Given the description of an element on the screen output the (x, y) to click on. 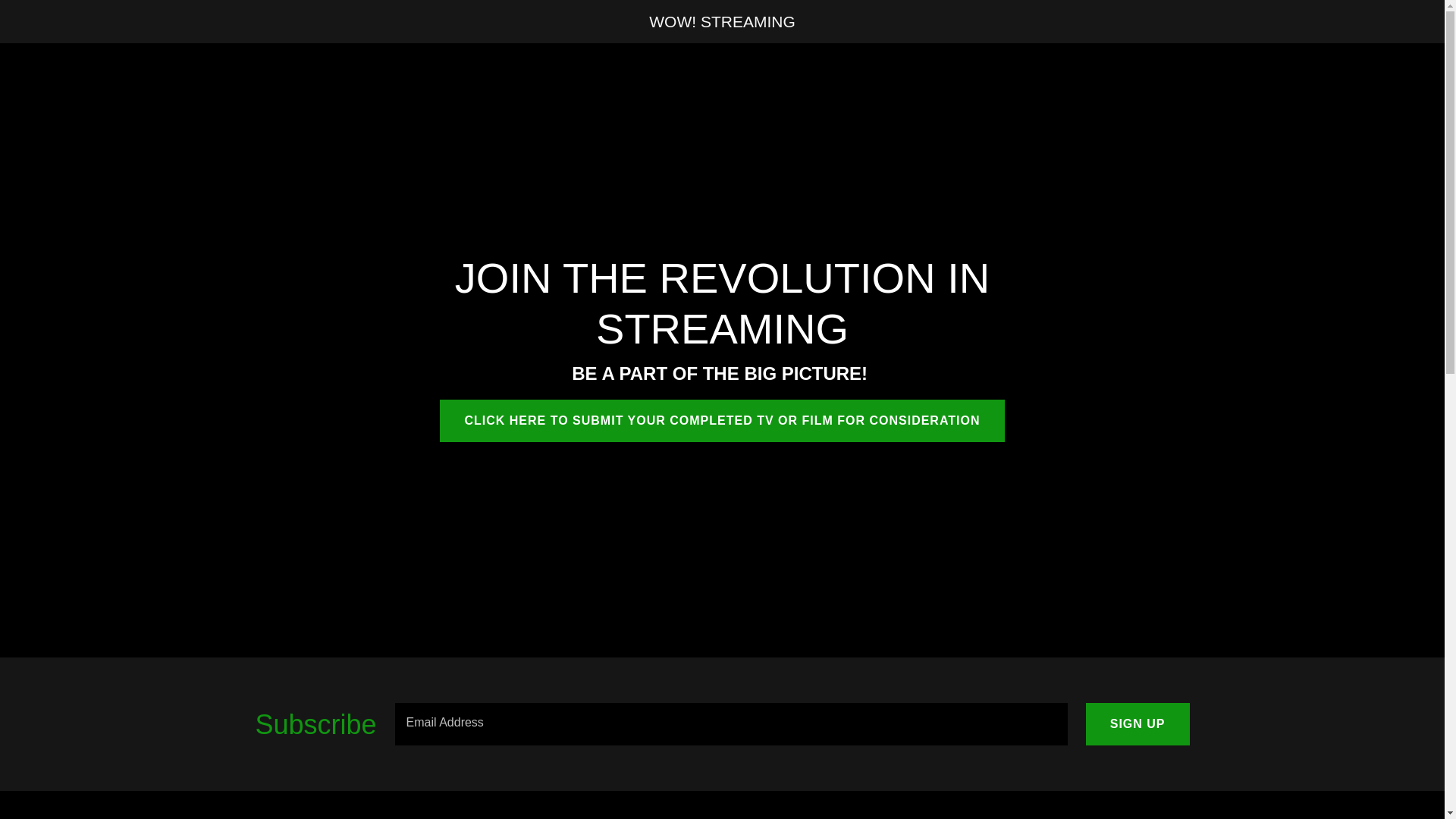
WOW! STREAMING (721, 22)
WOW! STREAMING (721, 22)
SIGN UP (1137, 723)
